Given the description of an element on the screen output the (x, y) to click on. 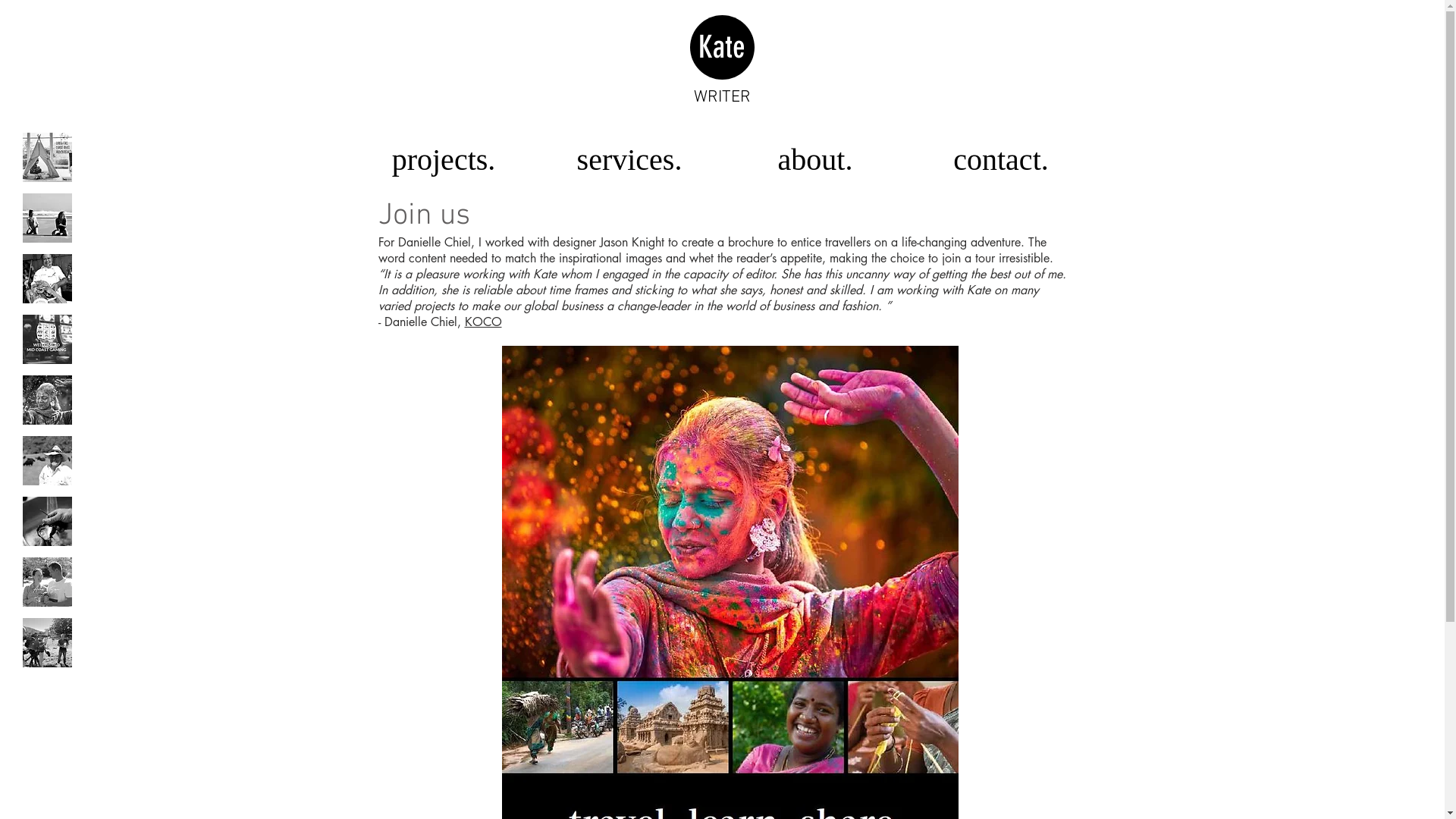
KOCO Element type: text (482, 321)
Kate Element type: text (721, 46)
projects. Element type: text (443, 159)
about. Element type: text (814, 159)
services. Element type: text (629, 159)
contact. Element type: text (1001, 159)
